Given the description of an element on the screen output the (x, y) to click on. 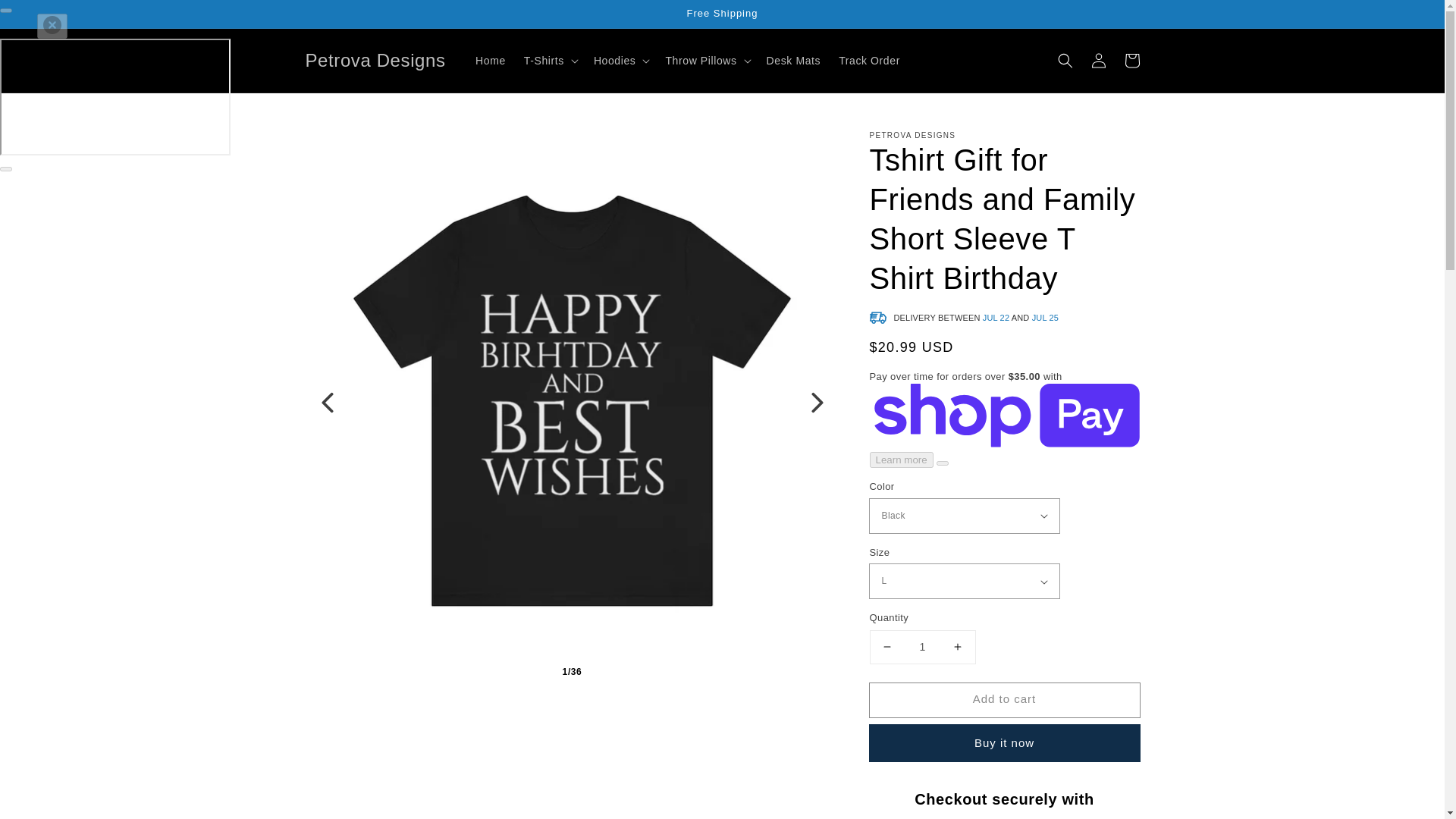
Skip to content (45, 16)
1 (922, 646)
Home (490, 60)
Petrova Designs (375, 60)
